Given the description of an element on the screen output the (x, y) to click on. 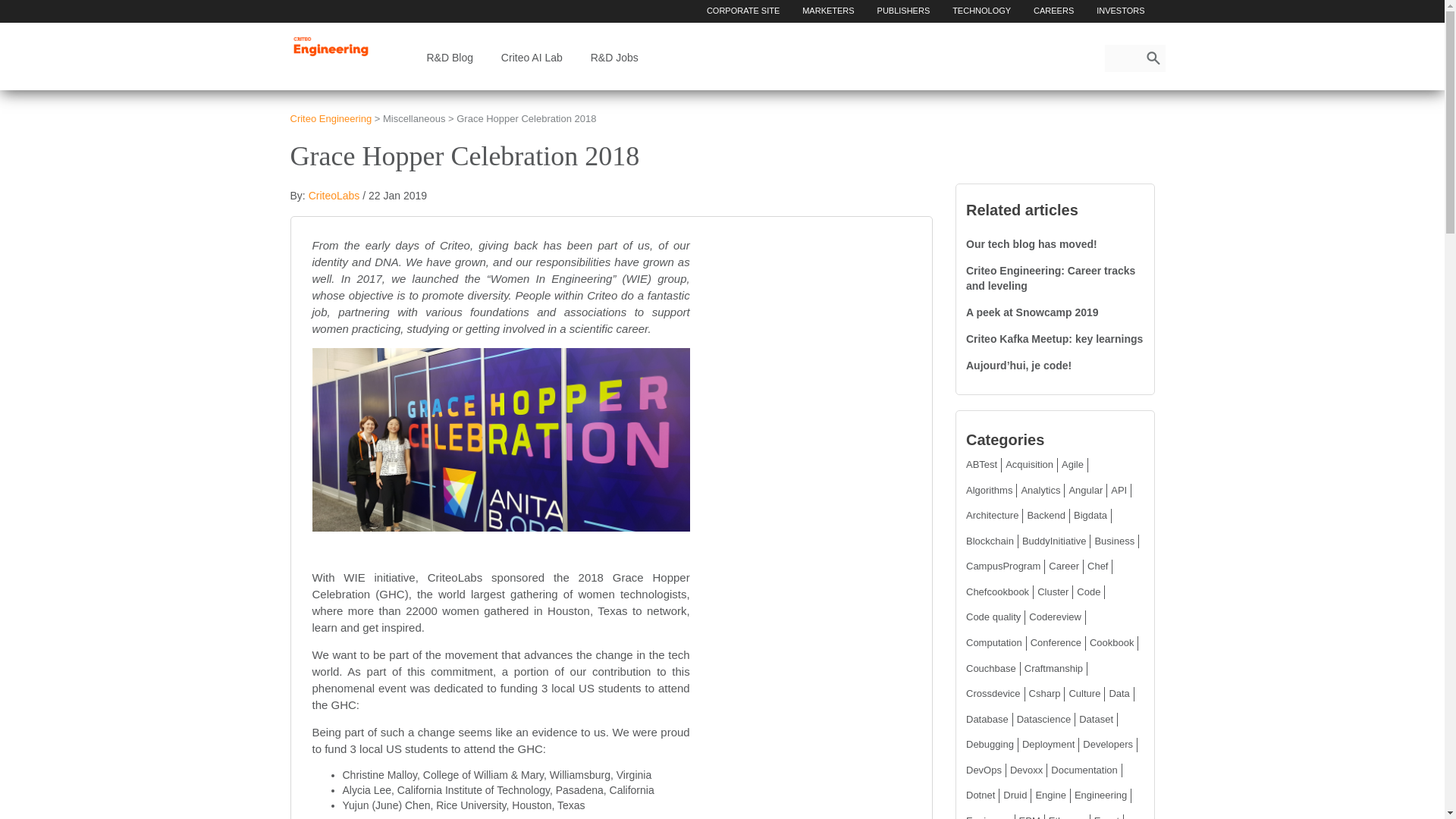
Algorithms (988, 490)
Criteo Engineering: Career tracks and leveling (1050, 277)
Bigdata (1090, 514)
Backend (1045, 514)
Angular (1085, 490)
Go to Criteo Engineering. (330, 118)
TECHNOLOGY (981, 11)
API (1118, 490)
Analytics (1039, 490)
PUBLISHERS (903, 11)
CORPORATE SITE (743, 11)
Search (1153, 58)
INVESTORS (1120, 11)
Criteo Kafka Meetup: key learnings (1054, 338)
Miscellaneous (413, 118)
